Given the description of an element on the screen output the (x, y) to click on. 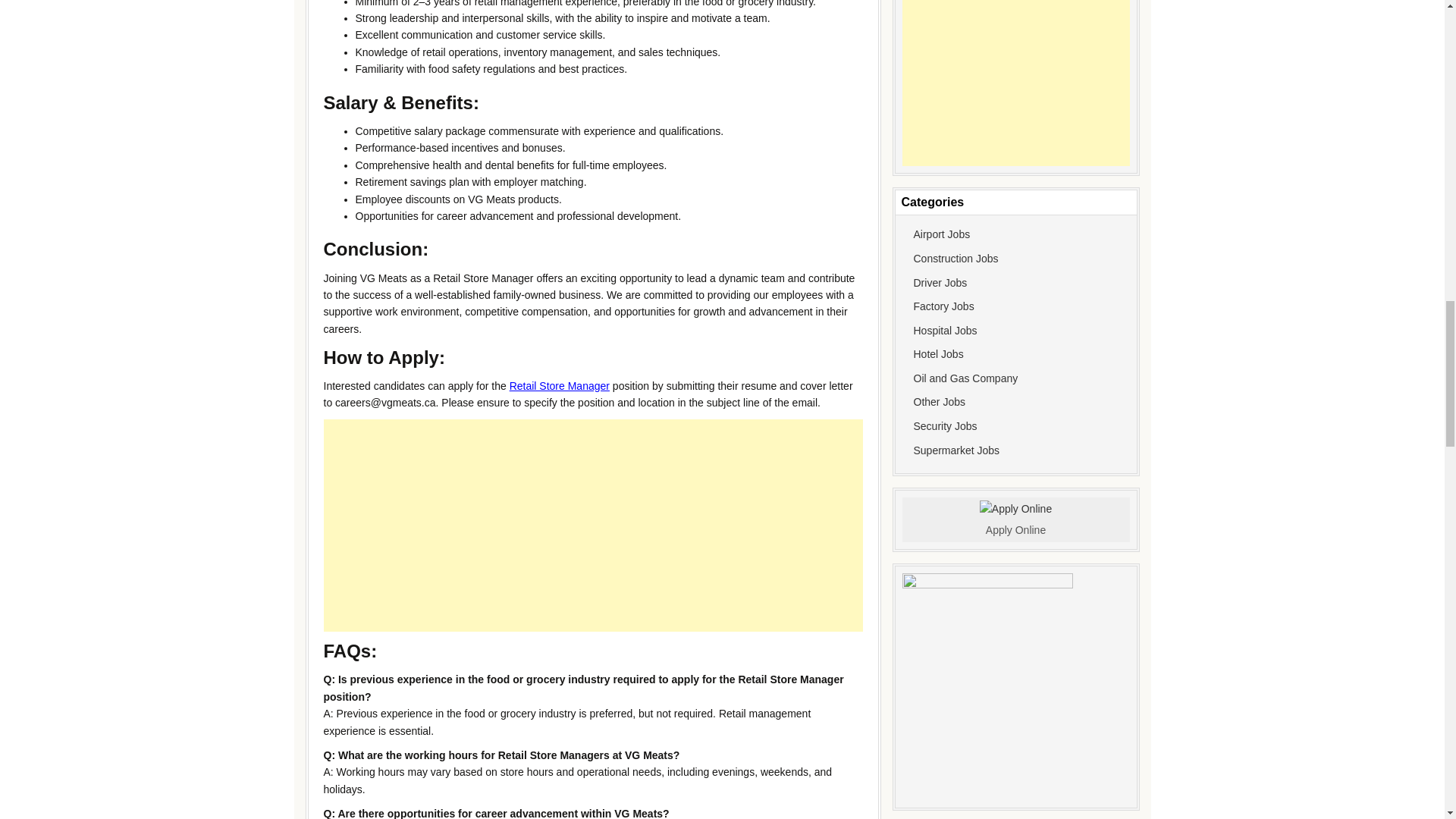
Hotel Jobs (937, 354)
Airport Jobs (940, 234)
Construction Jobs (954, 258)
Factory Jobs (943, 306)
Retail Store Manager (559, 386)
Hospital Jobs (944, 330)
Driver Jobs (939, 282)
